Given the description of an element on the screen output the (x, y) to click on. 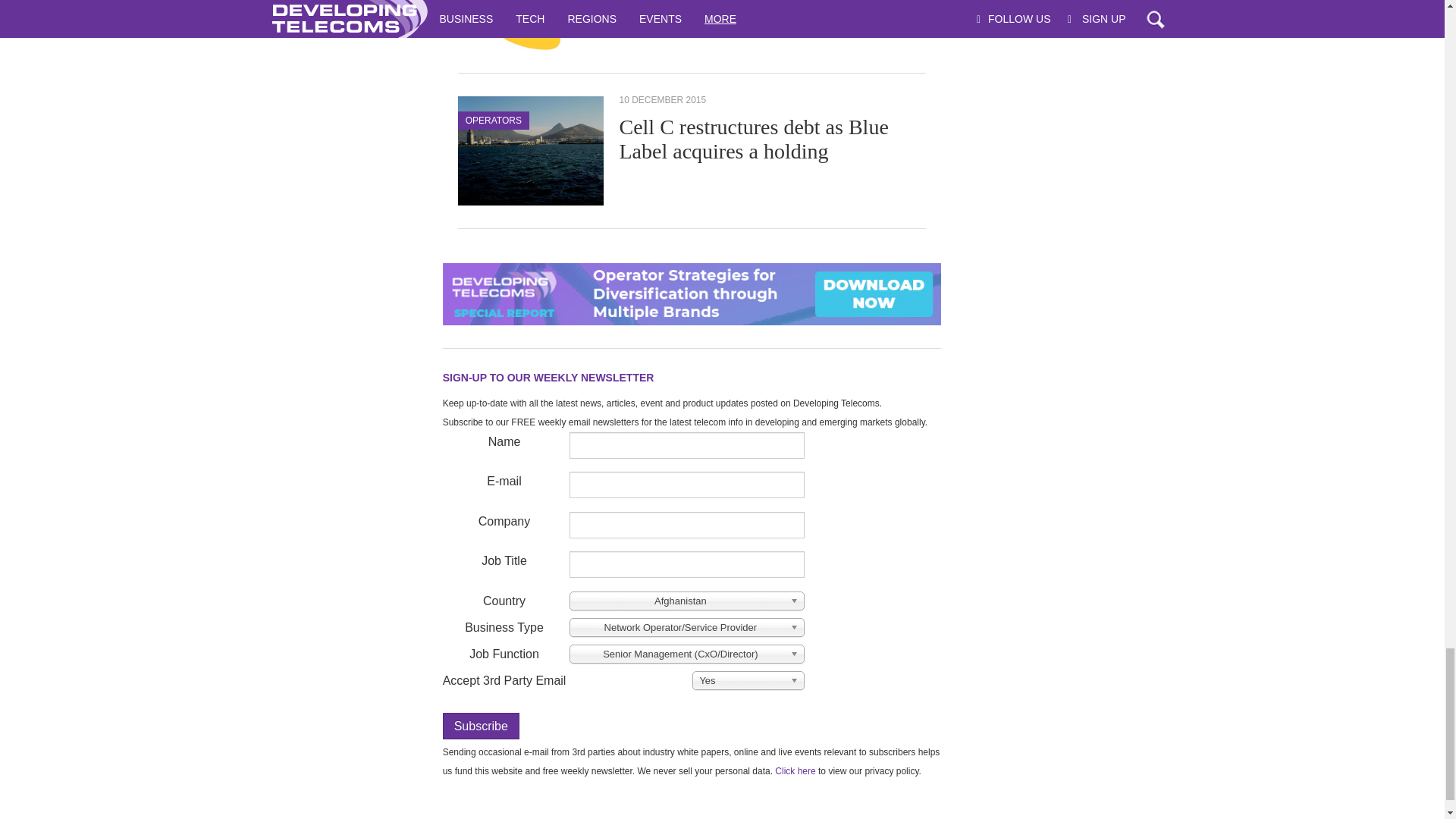
Subscribe (480, 725)
